Given the description of an element on the screen output the (x, y) to click on. 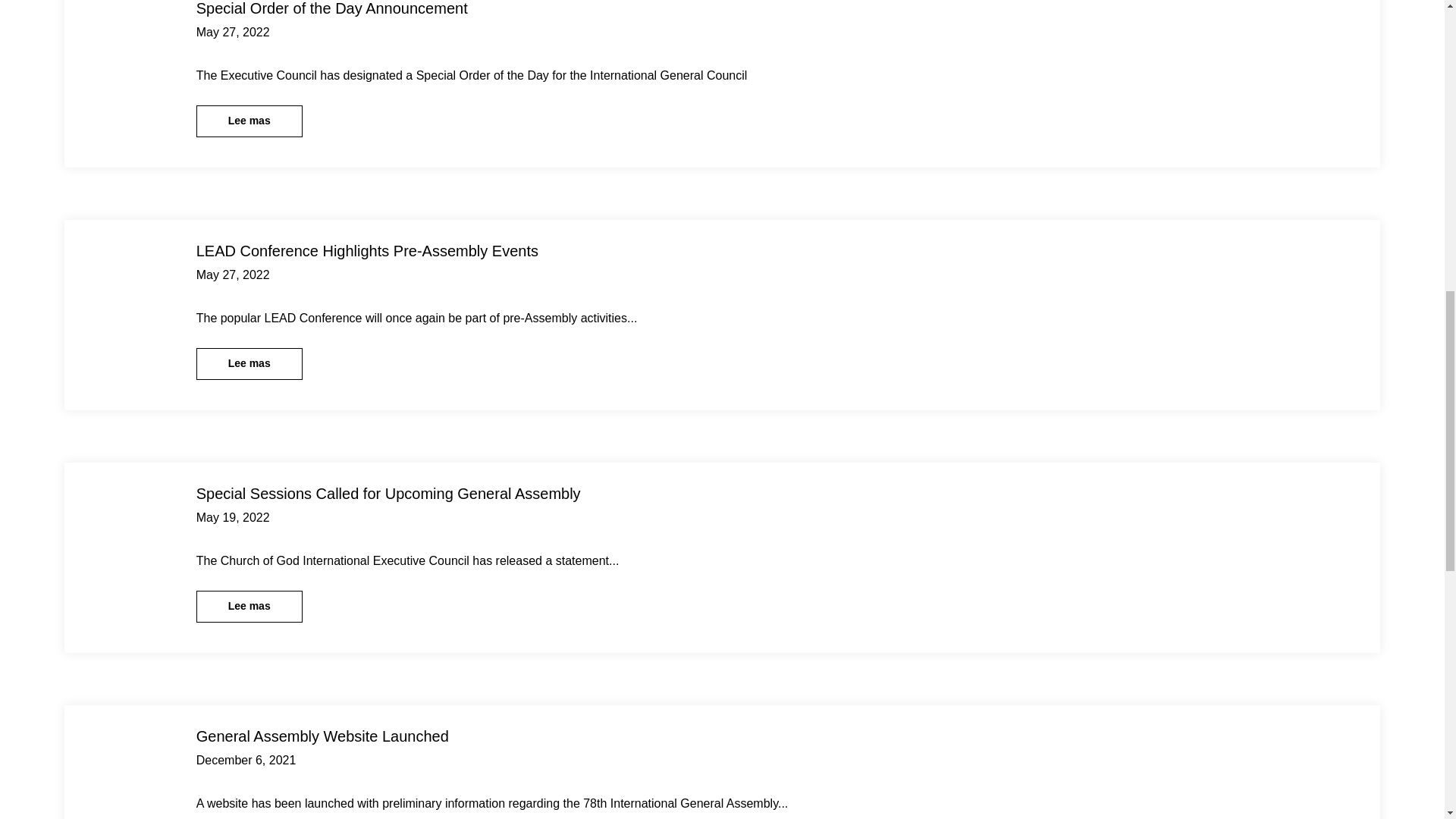
Lee mas (249, 606)
Lee mas (249, 121)
Lee mas (249, 364)
